Given the description of an element on the screen output the (x, y) to click on. 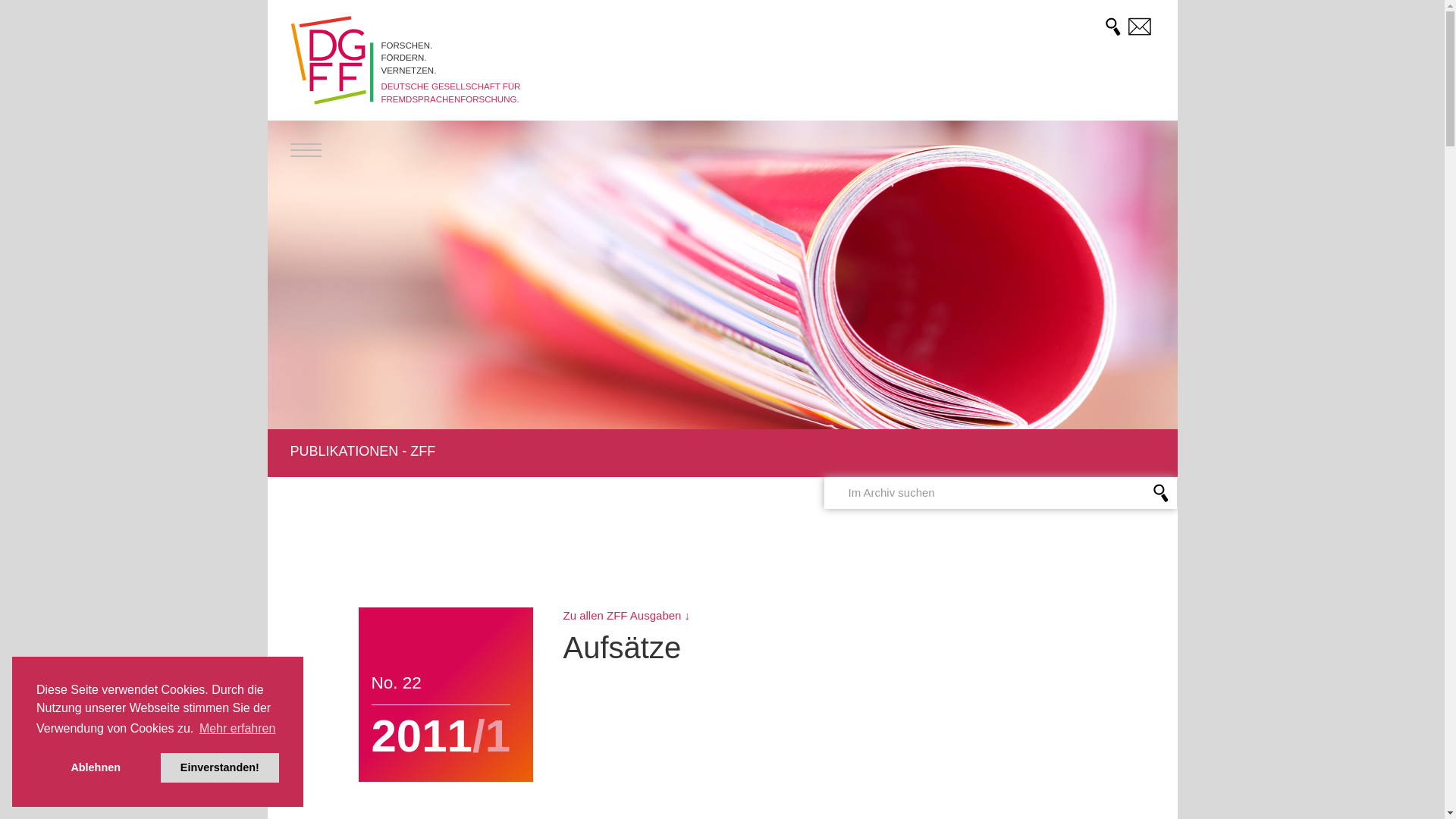
Ablehnen (95, 767)
Los (18, 13)
Mehr erfahren (237, 728)
Burger Menu (304, 150)
E-Mail an DGFF (1139, 26)
Logo DGFF (330, 60)
Einverstanden! (219, 767)
